Given the description of an element on the screen output the (x, y) to click on. 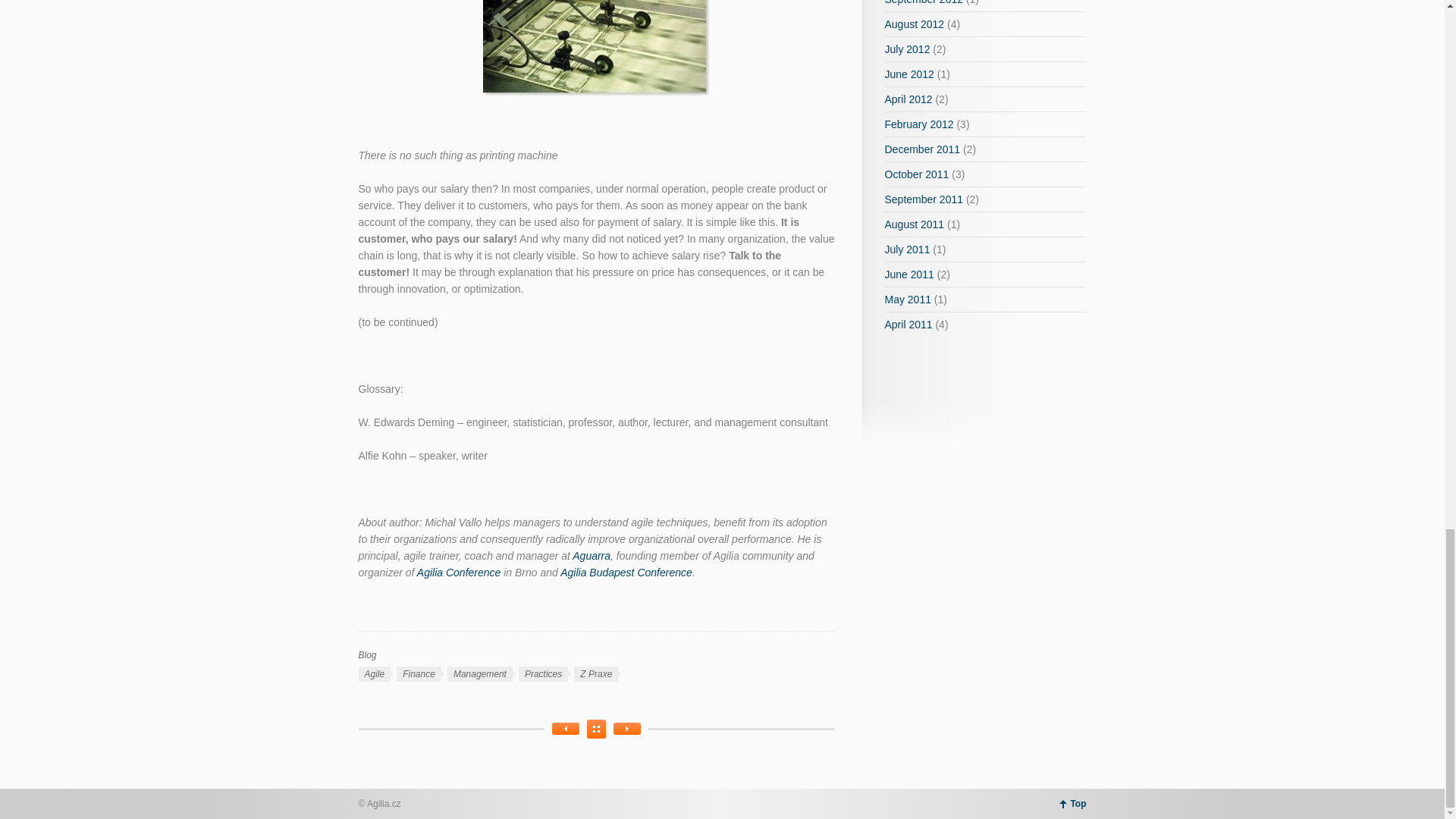
All Posts (595, 728)
Z Praxe (595, 673)
Aguarra (591, 555)
Finance (418, 673)
Agilia Budapest Conference (626, 572)
Practices (542, 673)
Agilia Conference (458, 572)
Agile (374, 673)
Blog (366, 655)
Management (479, 673)
